Given the description of an element on the screen output the (x, y) to click on. 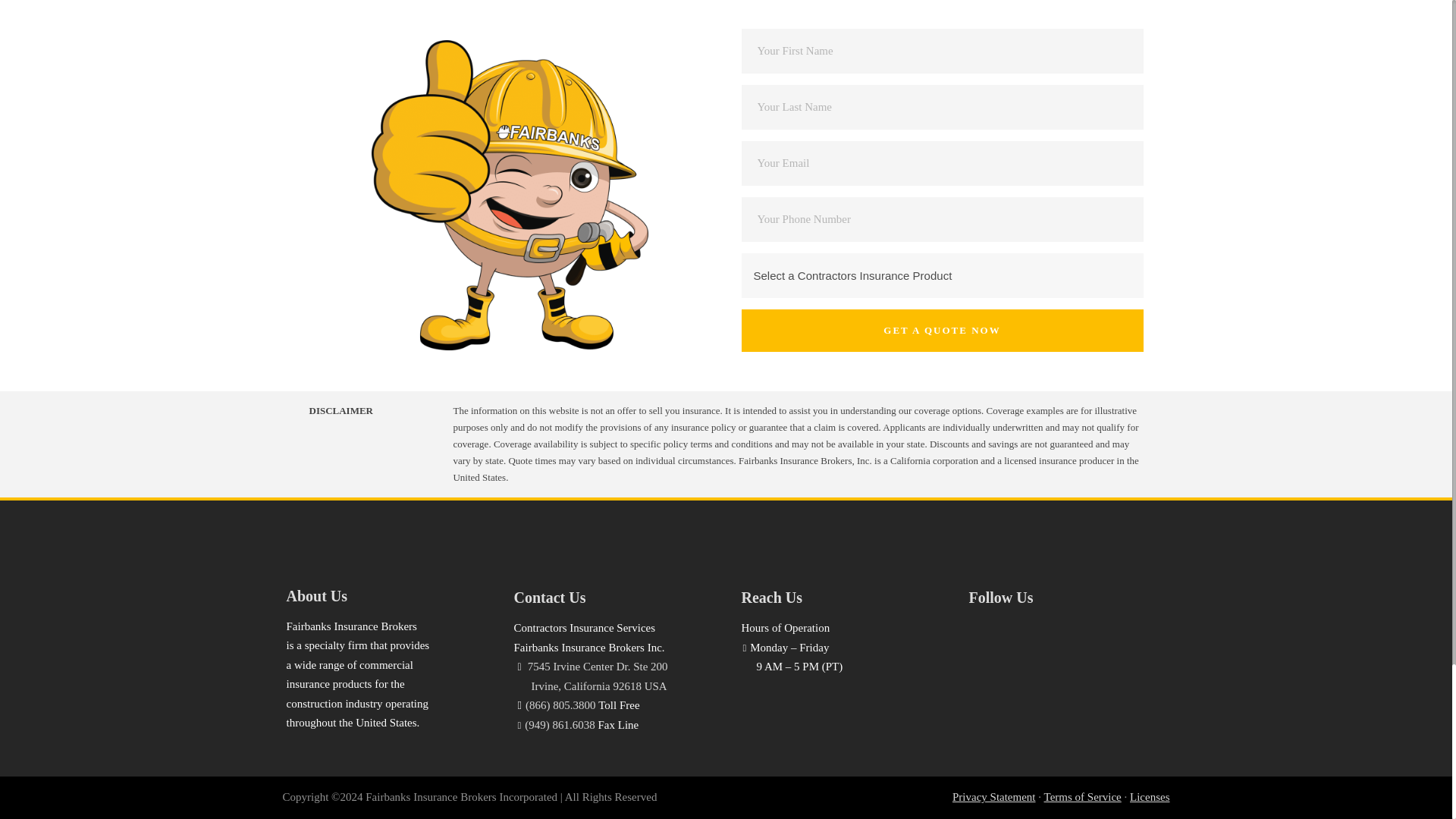
Get A Quote Now (941, 330)
